Given the description of an element on the screen output the (x, y) to click on. 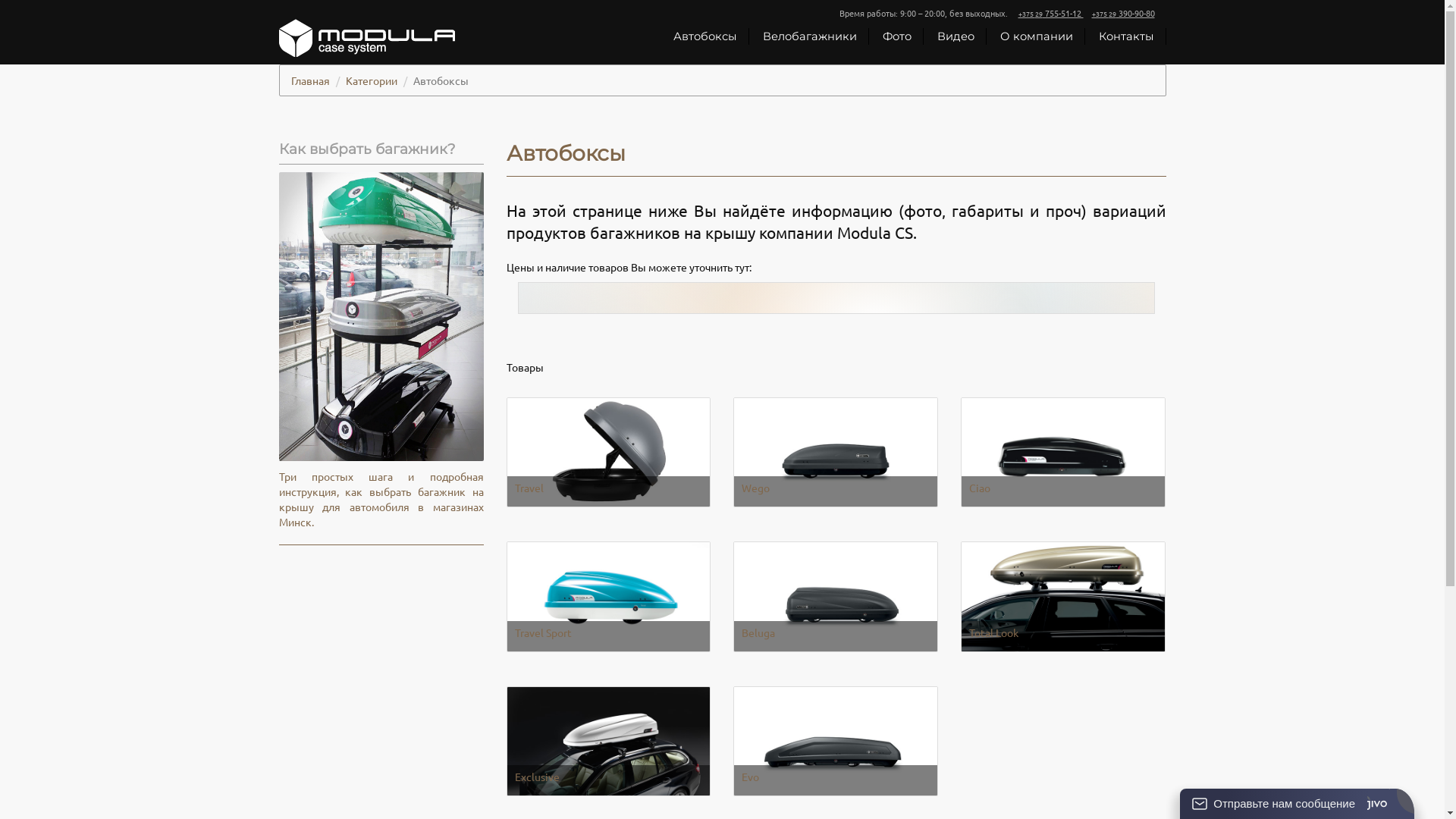
+375 29 755-51-12 Element type: text (1049, 12)
Modula Case System Element type: hover (367, 37)
+375 29 390-90-80 Element type: text (1123, 12)
